Given the description of an element on the screen output the (x, y) to click on. 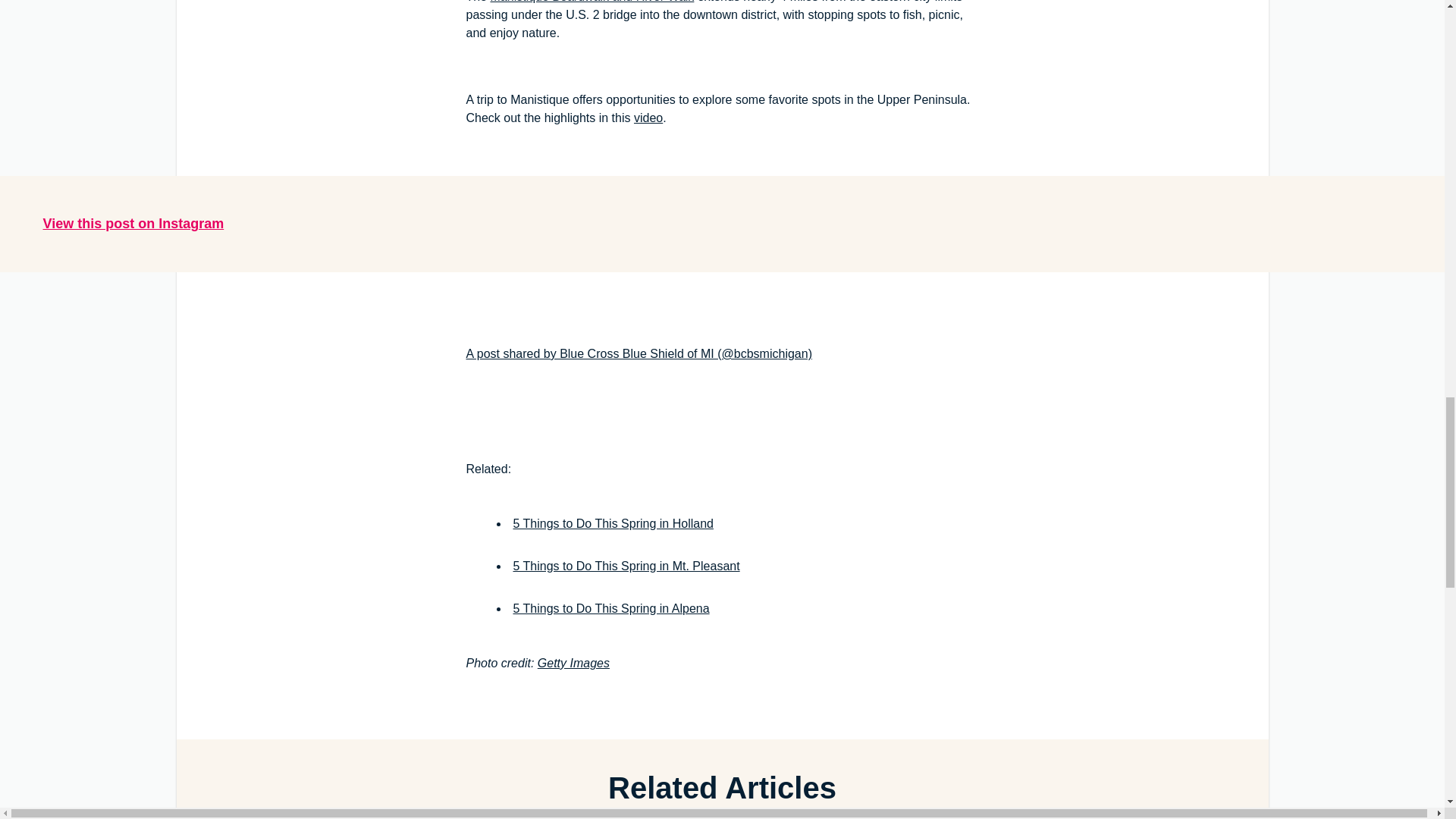
5 Things to Do This Spring in Mt. Pleasant (625, 565)
5 Things to Do This Spring in Holland (612, 522)
5 Things to Do This Spring in Alpena (610, 608)
Getty Images (573, 662)
video (647, 117)
View this post on Instagram (133, 223)
Manistique Boardwalk and River Walk (592, 1)
